Given the description of an element on the screen output the (x, y) to click on. 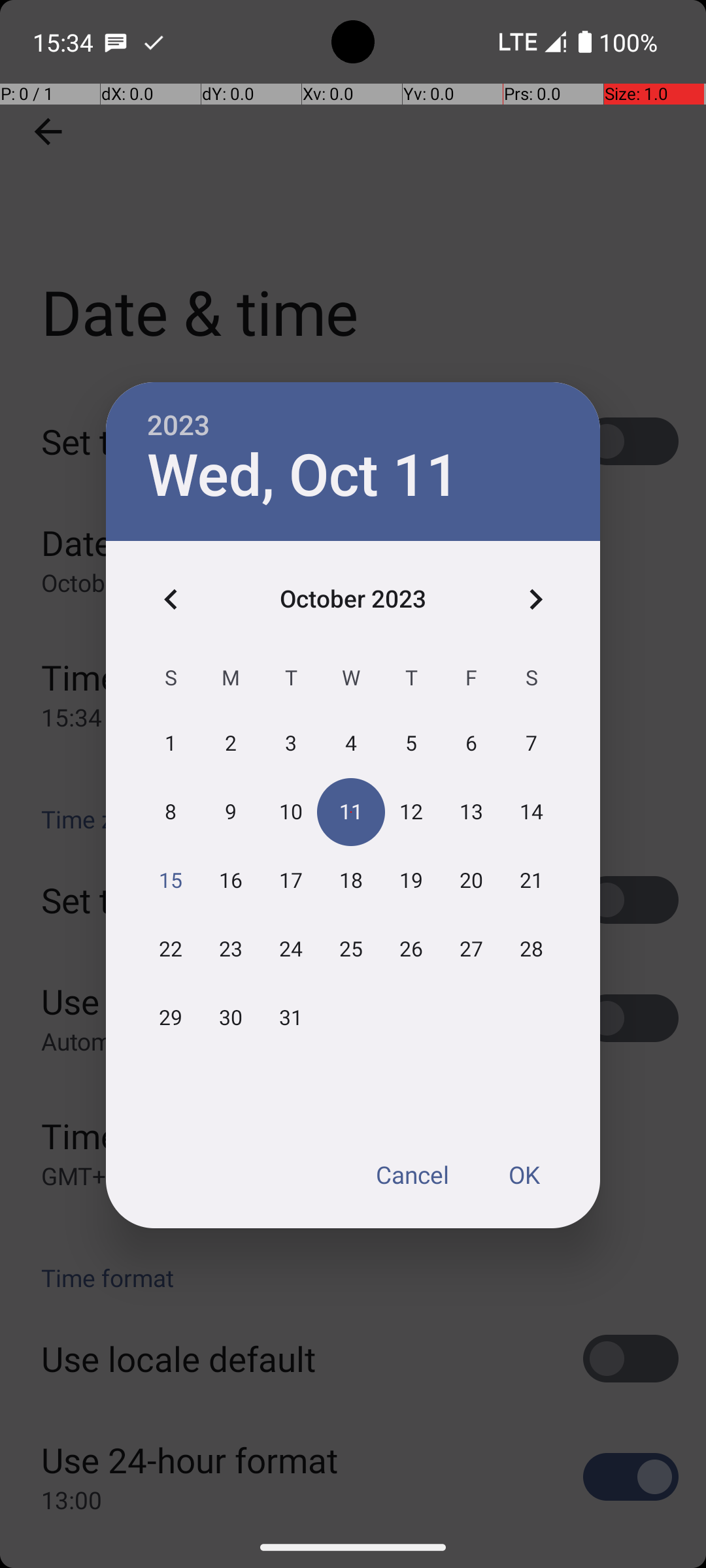
Wed, Oct 11 Element type: android.widget.TextView (303, 475)
